Given the description of an element on the screen output the (x, y) to click on. 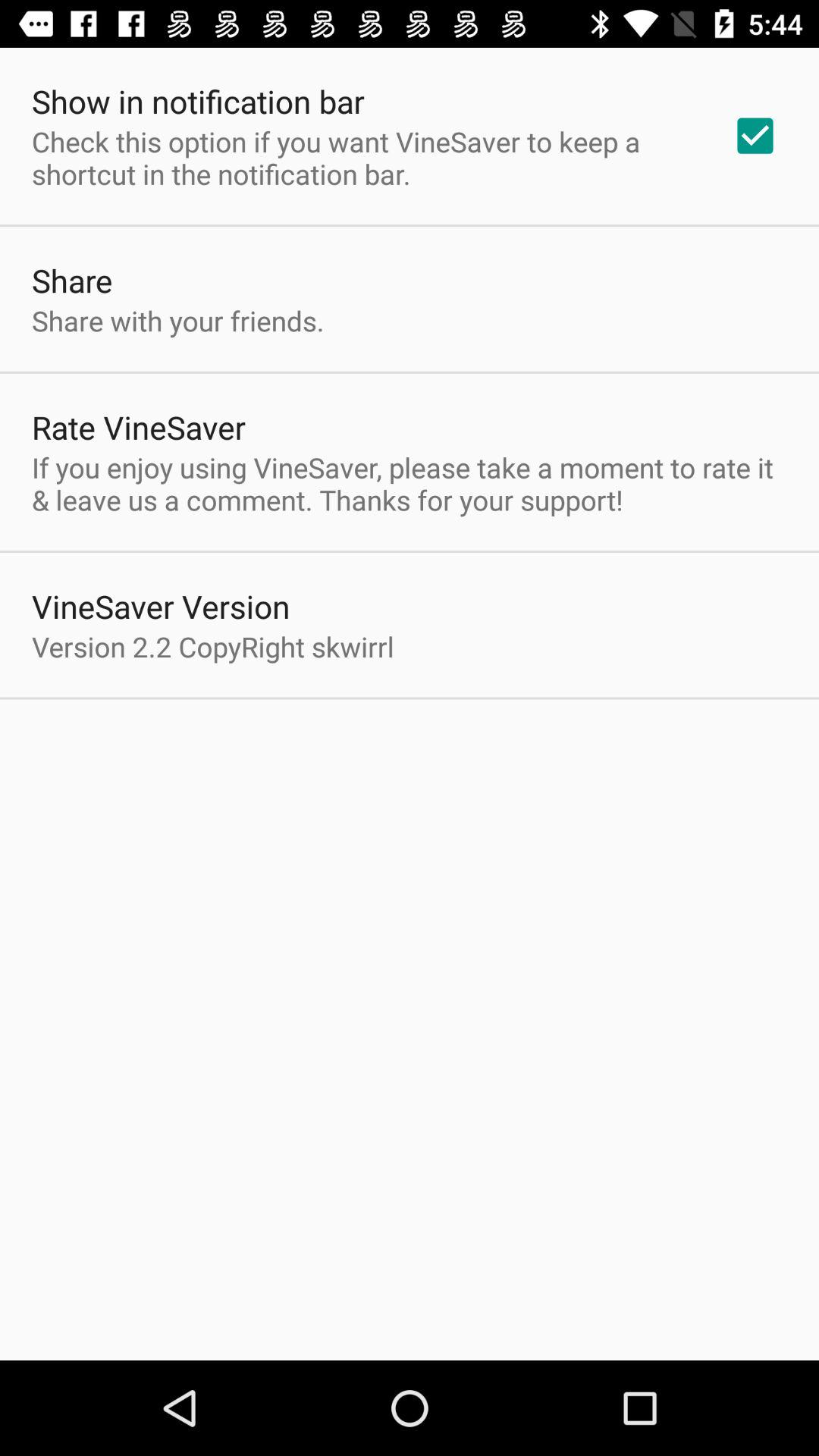
flip to share with your (177, 320)
